Given the description of an element on the screen output the (x, y) to click on. 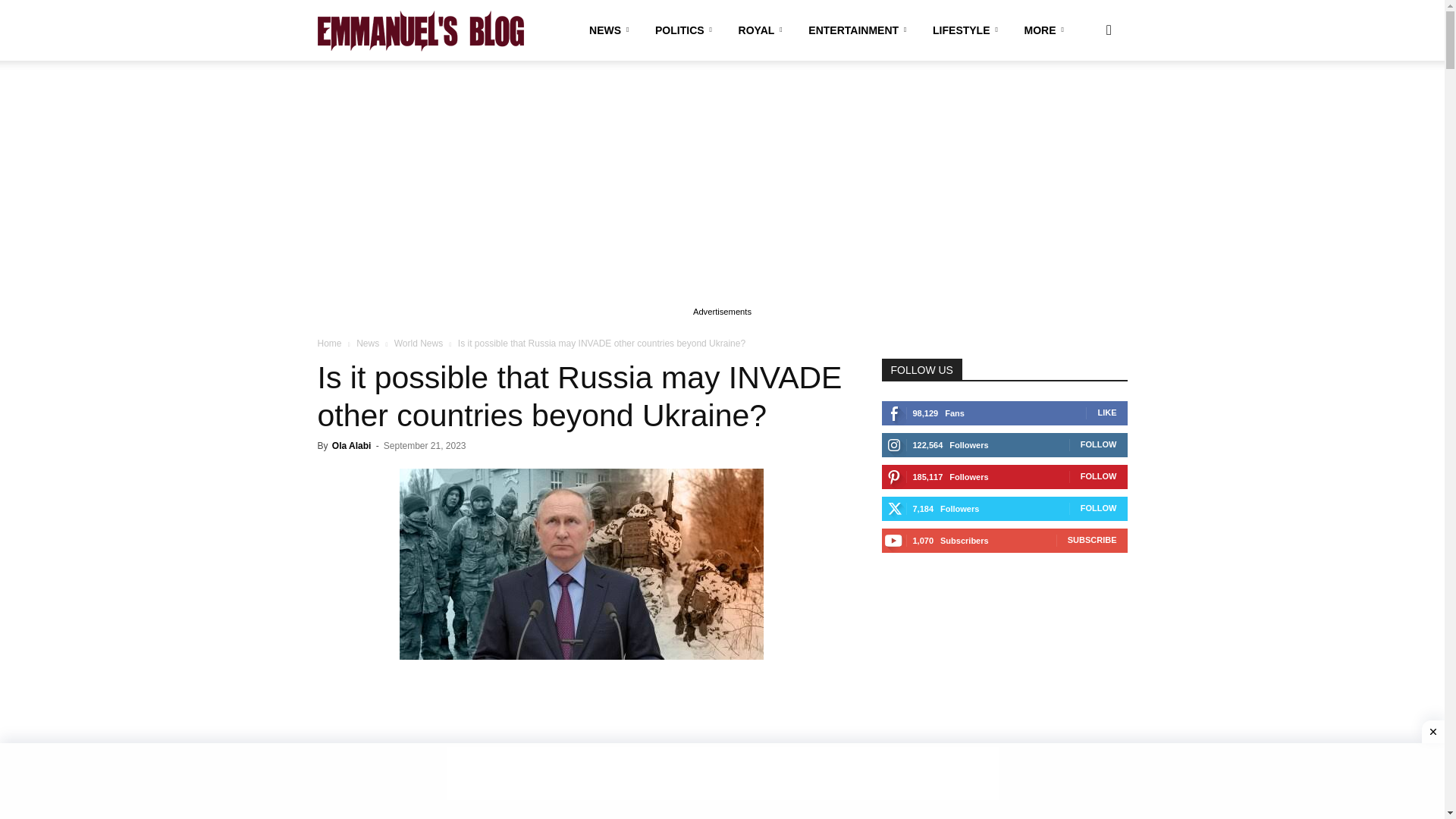
Advertisement (580, 749)
View all posts in News (367, 343)
View all posts in World News (418, 343)
